Given the description of an element on the screen output the (x, y) to click on. 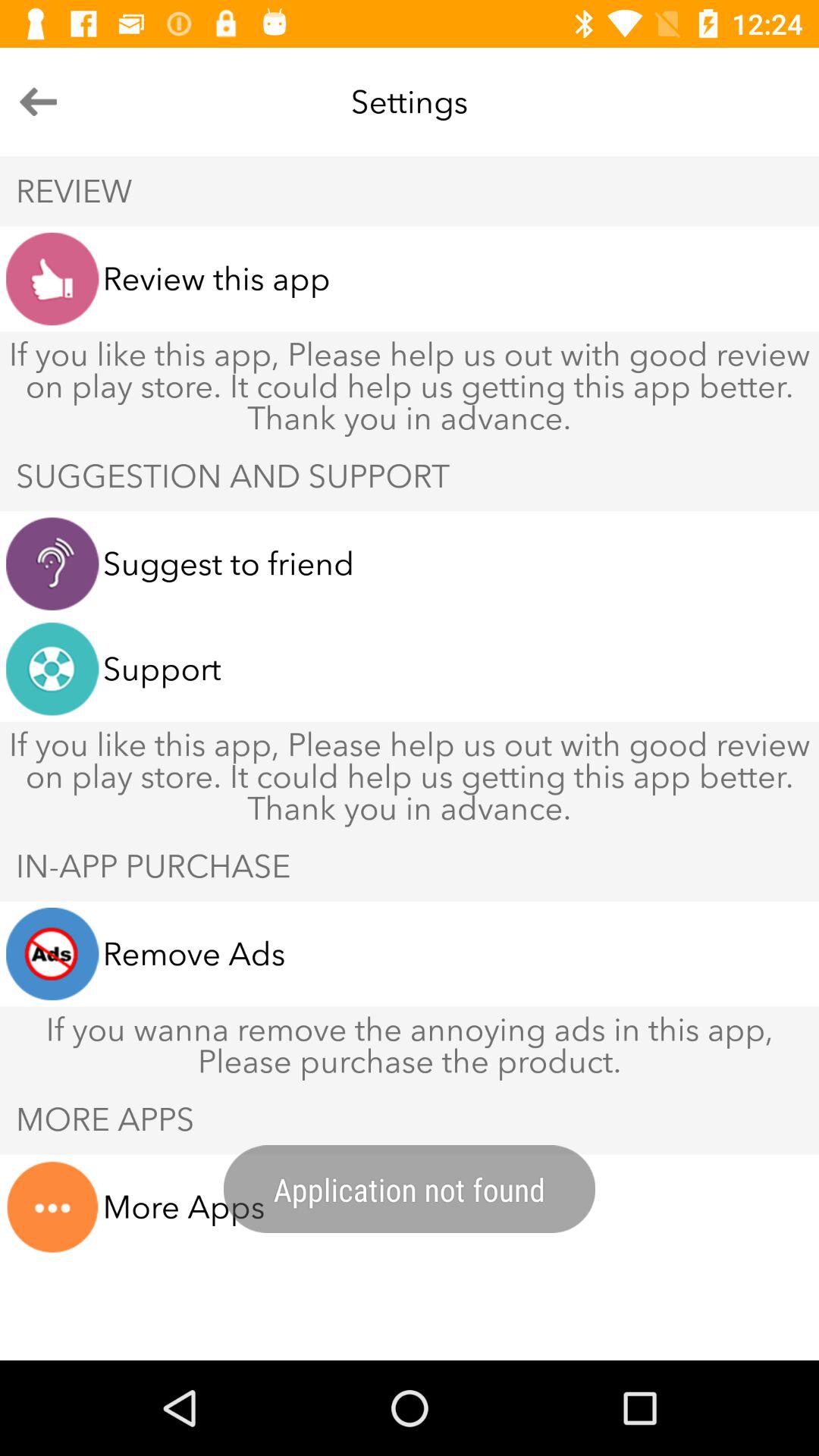
go back (38, 101)
